Given the description of an element on the screen output the (x, y) to click on. 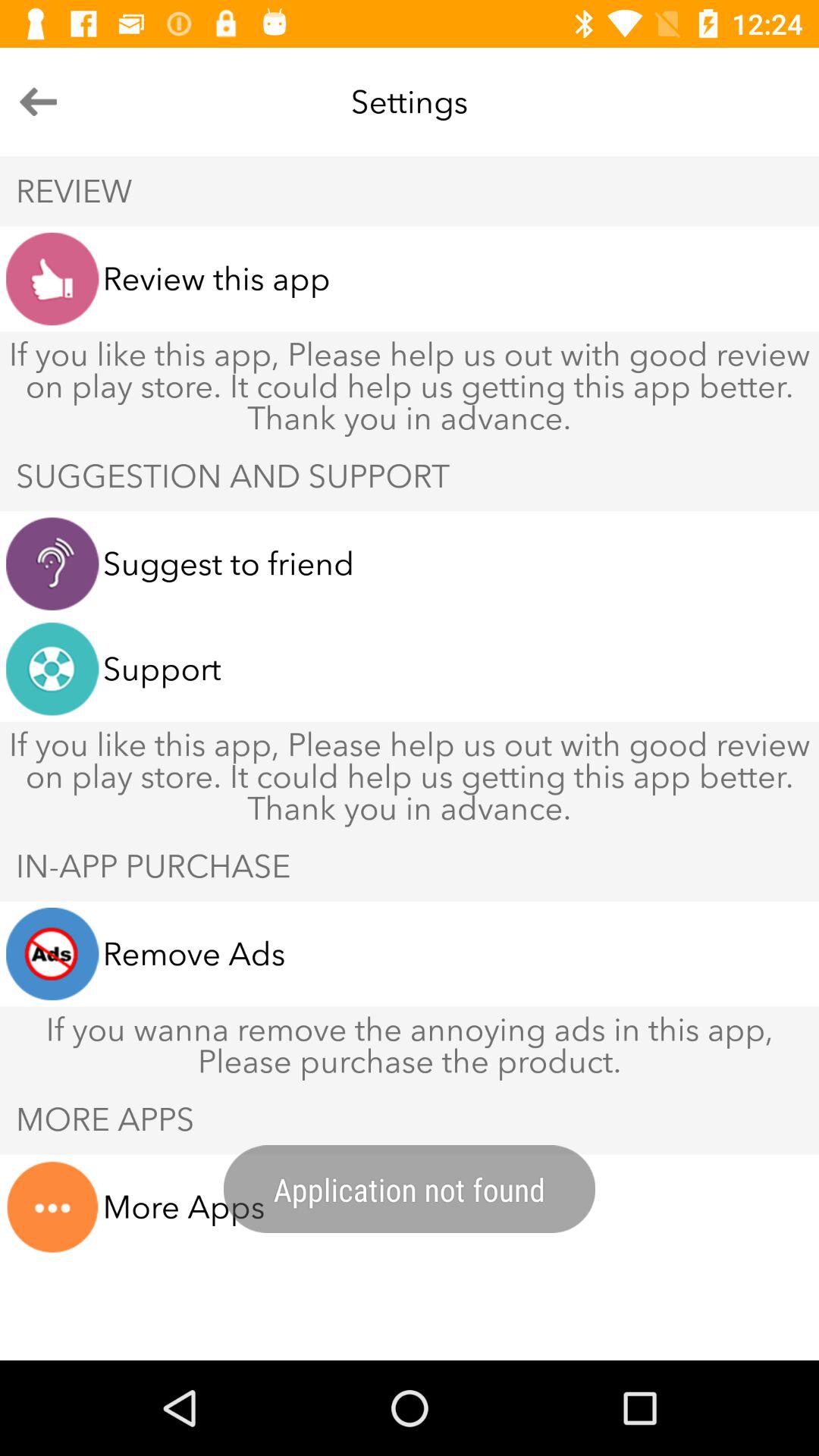
go back (38, 101)
